Given the description of an element on the screen output the (x, y) to click on. 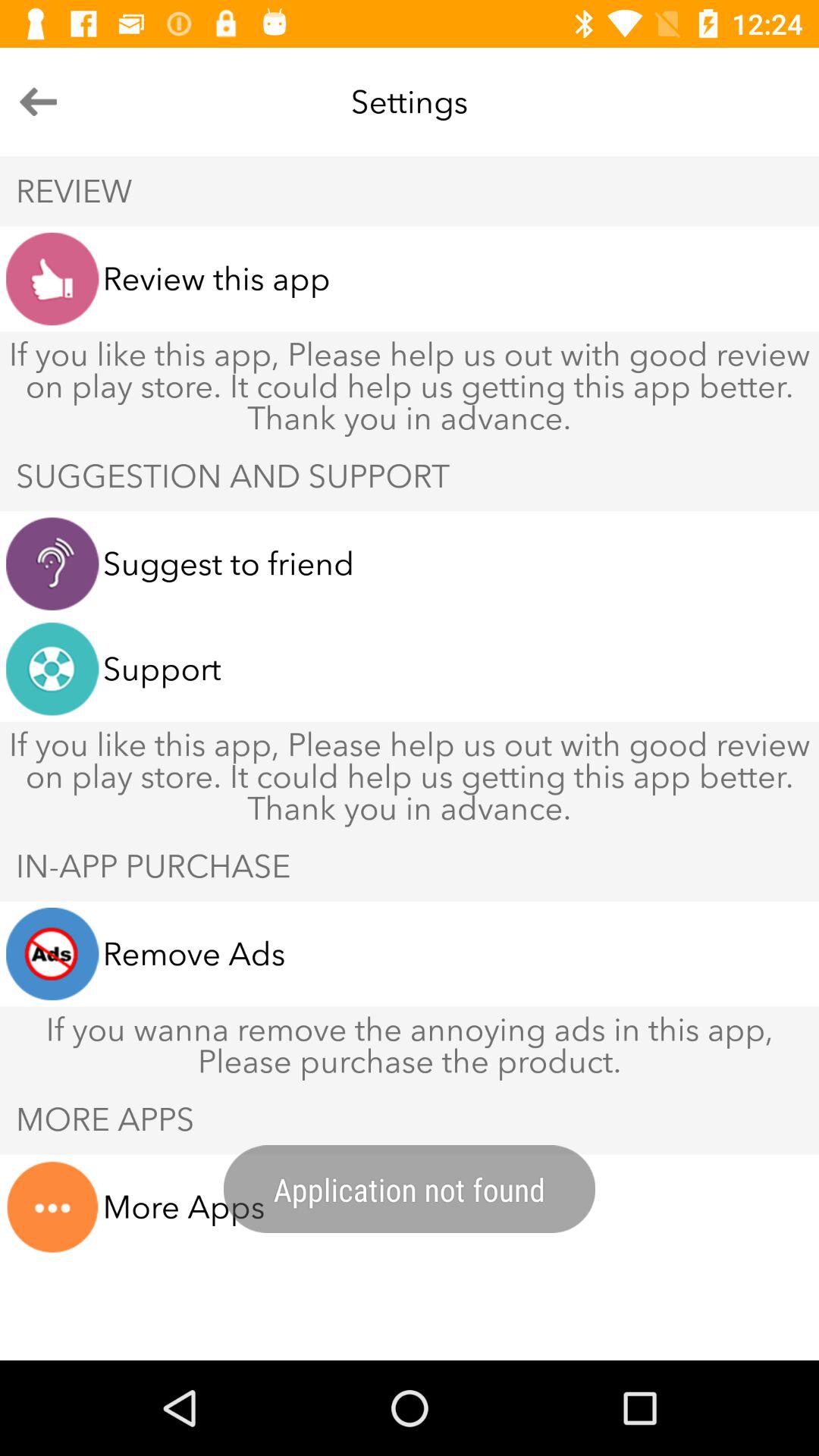
go back (38, 101)
